Given the description of an element on the screen output the (x, y) to click on. 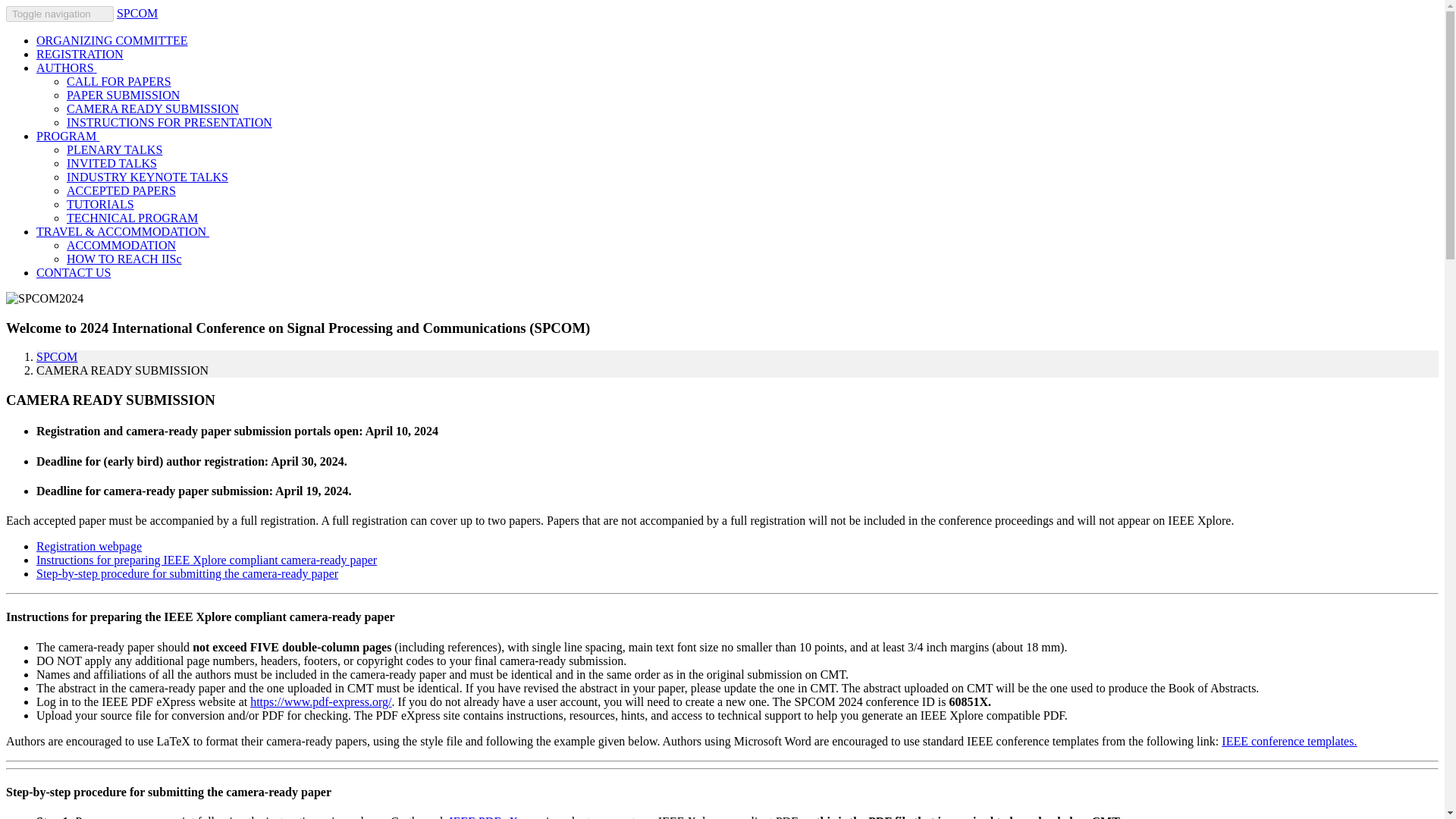
HOW TO REACH IISc (124, 258)
Registration webpage (88, 545)
SPCOM (136, 12)
REGISTRATION (79, 53)
INVITED TALKS (111, 163)
ORGANIZING COMMITTEE (111, 40)
INDUSTRY KEYNOTE TALKS (147, 176)
SPCOM (56, 356)
Step-by-step procedure for submitting the camera-ready paper (186, 573)
TUTORIALS (99, 204)
